Given the description of an element on the screen output the (x, y) to click on. 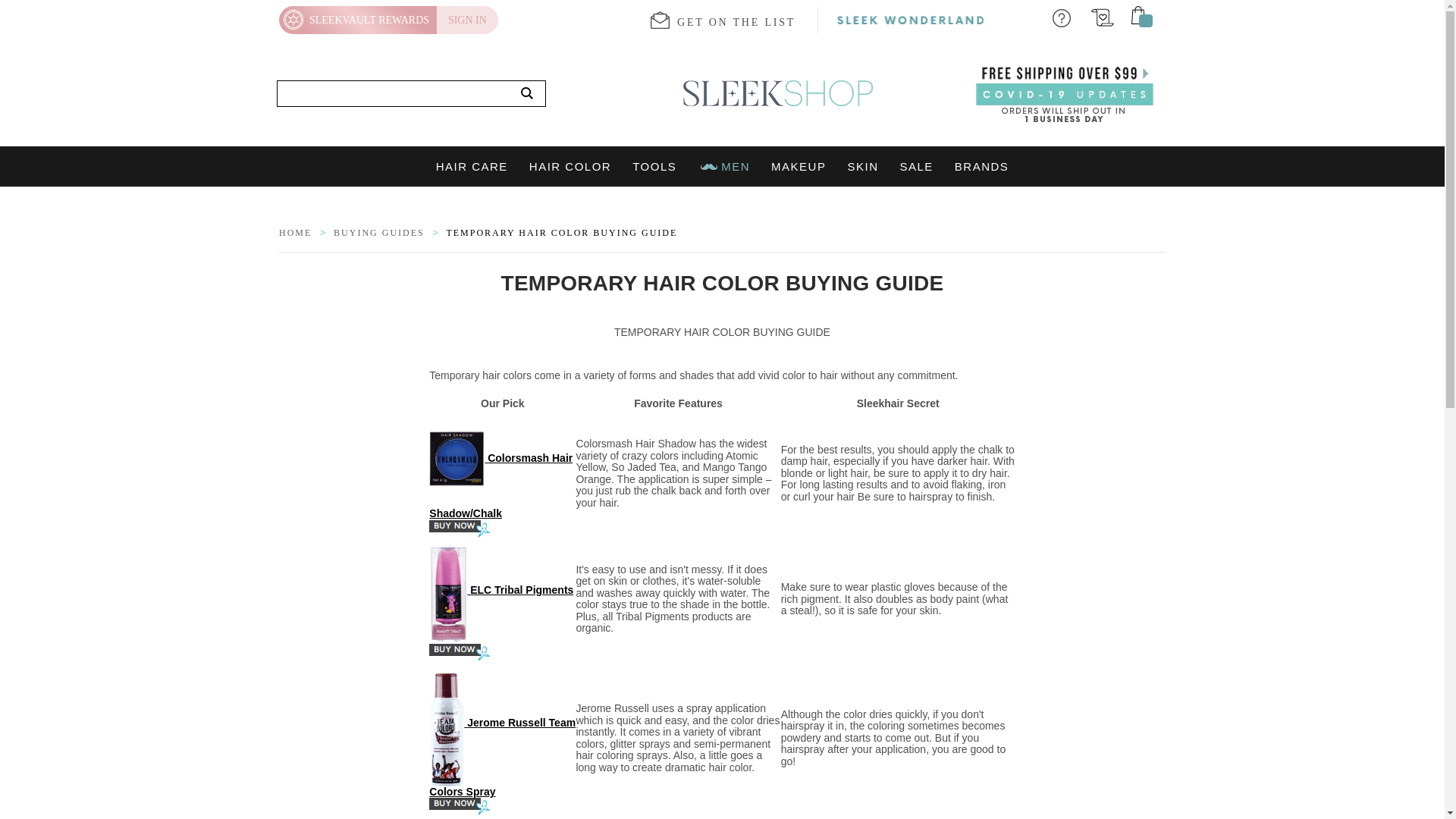
SLEEKVAULT REWARDS (357, 19)
Sign In (466, 19)
HAIR CARE (471, 166)
Search the store (526, 94)
sleek wonderland (910, 19)
SleekVault Rewards (357, 19)
SIGN IN (466, 19)
